Given the description of an element on the screen output the (x, y) to click on. 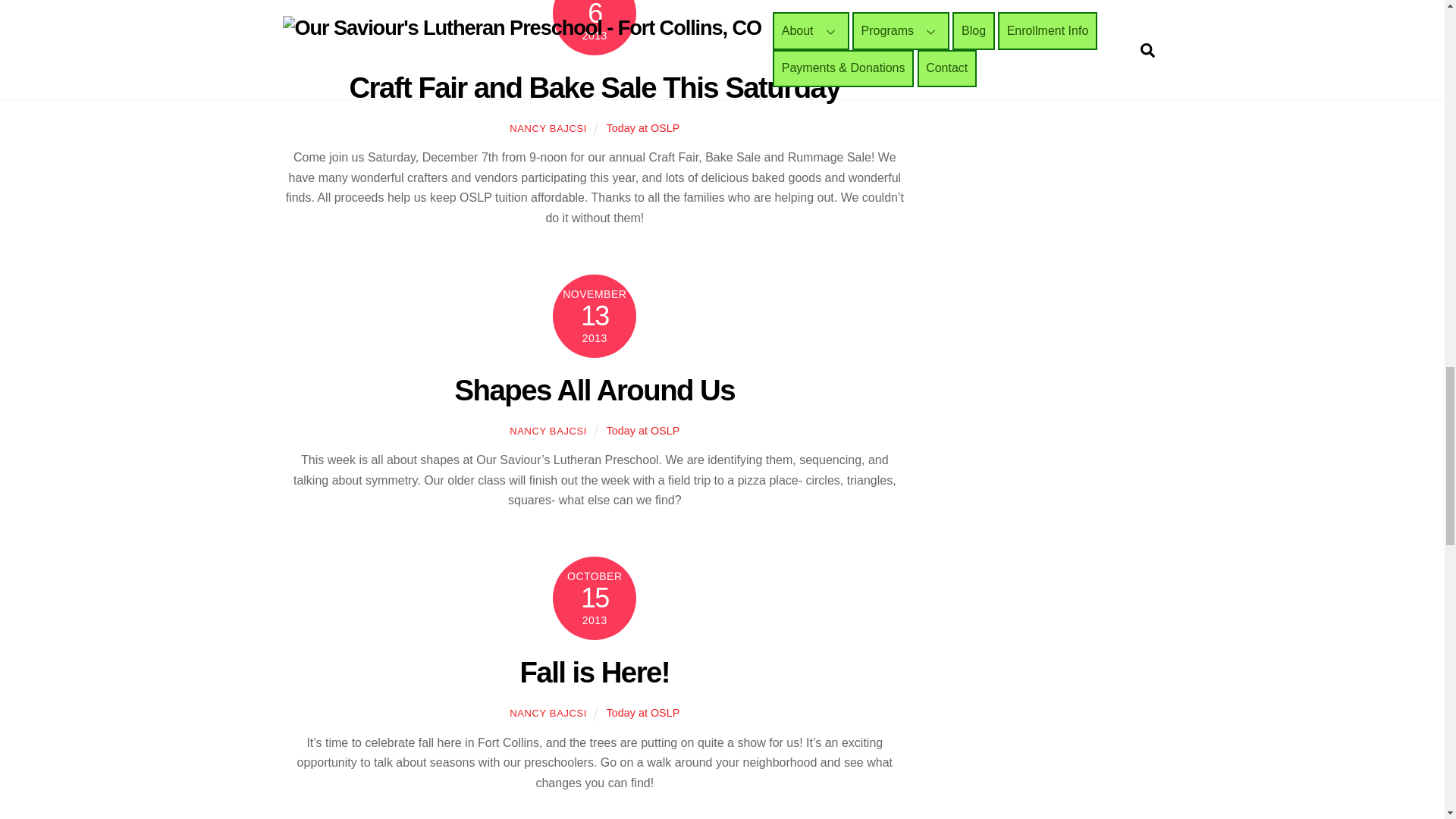
Today at OSLP (643, 712)
Fall is Here! (594, 672)
NANCY BAJCSI (547, 128)
NANCY BAJCSI (547, 713)
Today at OSLP (643, 128)
Today at OSLP (643, 430)
Shapes All Around Us (594, 389)
NANCY BAJCSI (547, 430)
Craft Fair and Bake Sale This Saturday (594, 87)
